Given the description of an element on the screen output the (x, y) to click on. 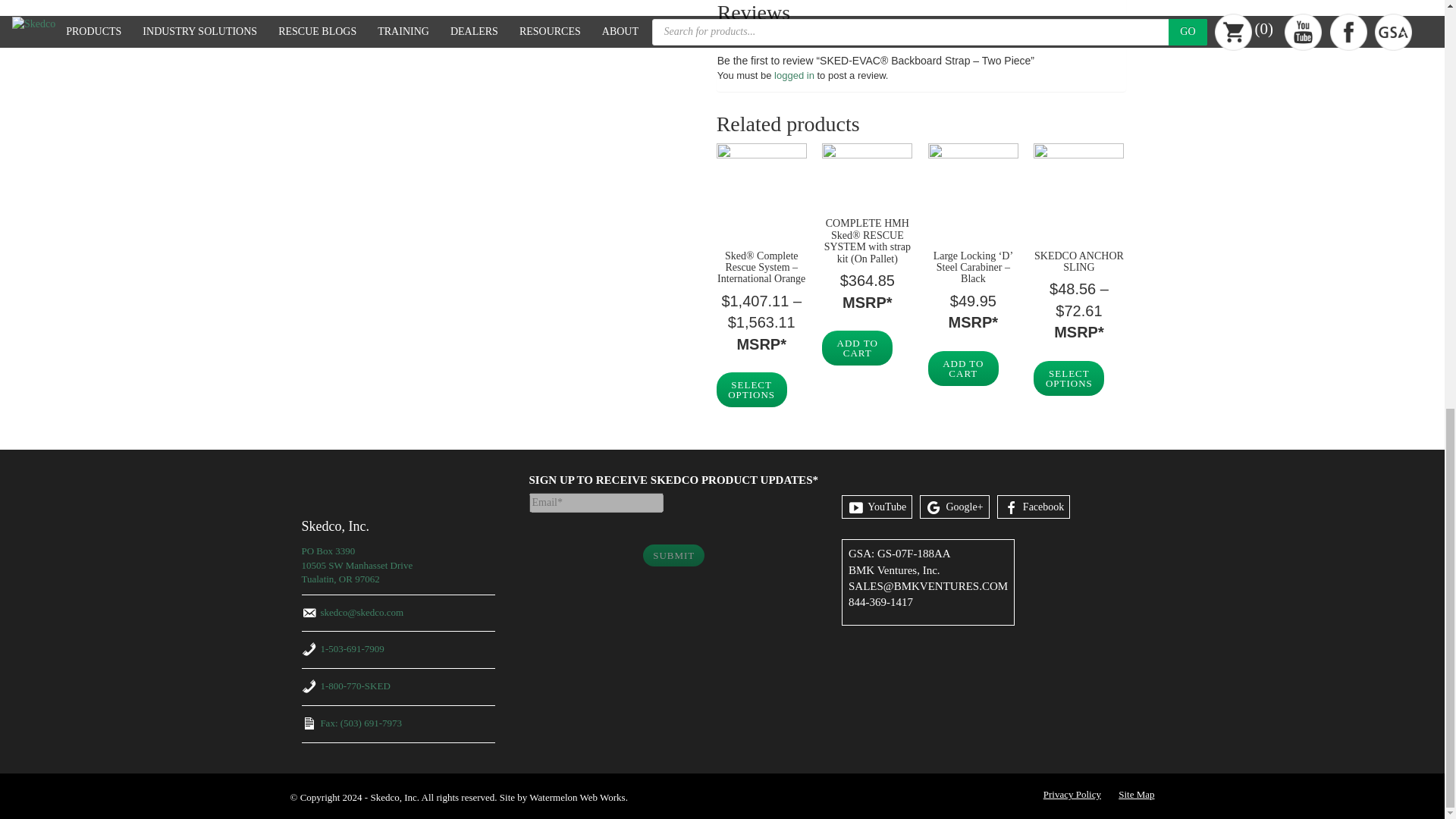
Submit (673, 555)
Army Aviation Association (608, 664)
See map of this location (357, 564)
National Tactical Officers Association (555, 664)
